Given the description of an element on the screen output the (x, y) to click on. 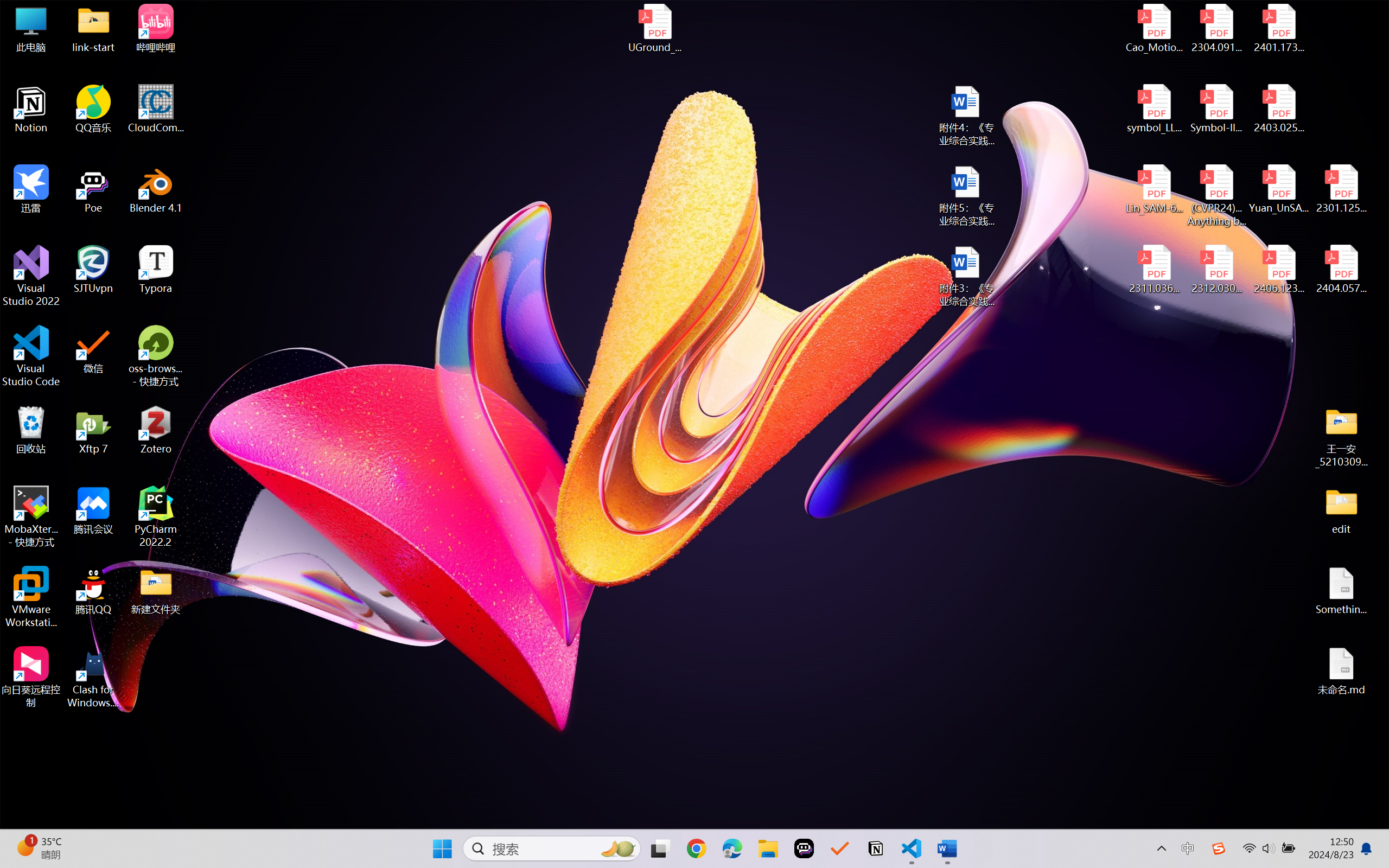
Visual Studio 2022 (31, 276)
UGround_paper.pdf (654, 28)
2304.09121v3.pdf (1216, 28)
